Given the description of an element on the screen output the (x, y) to click on. 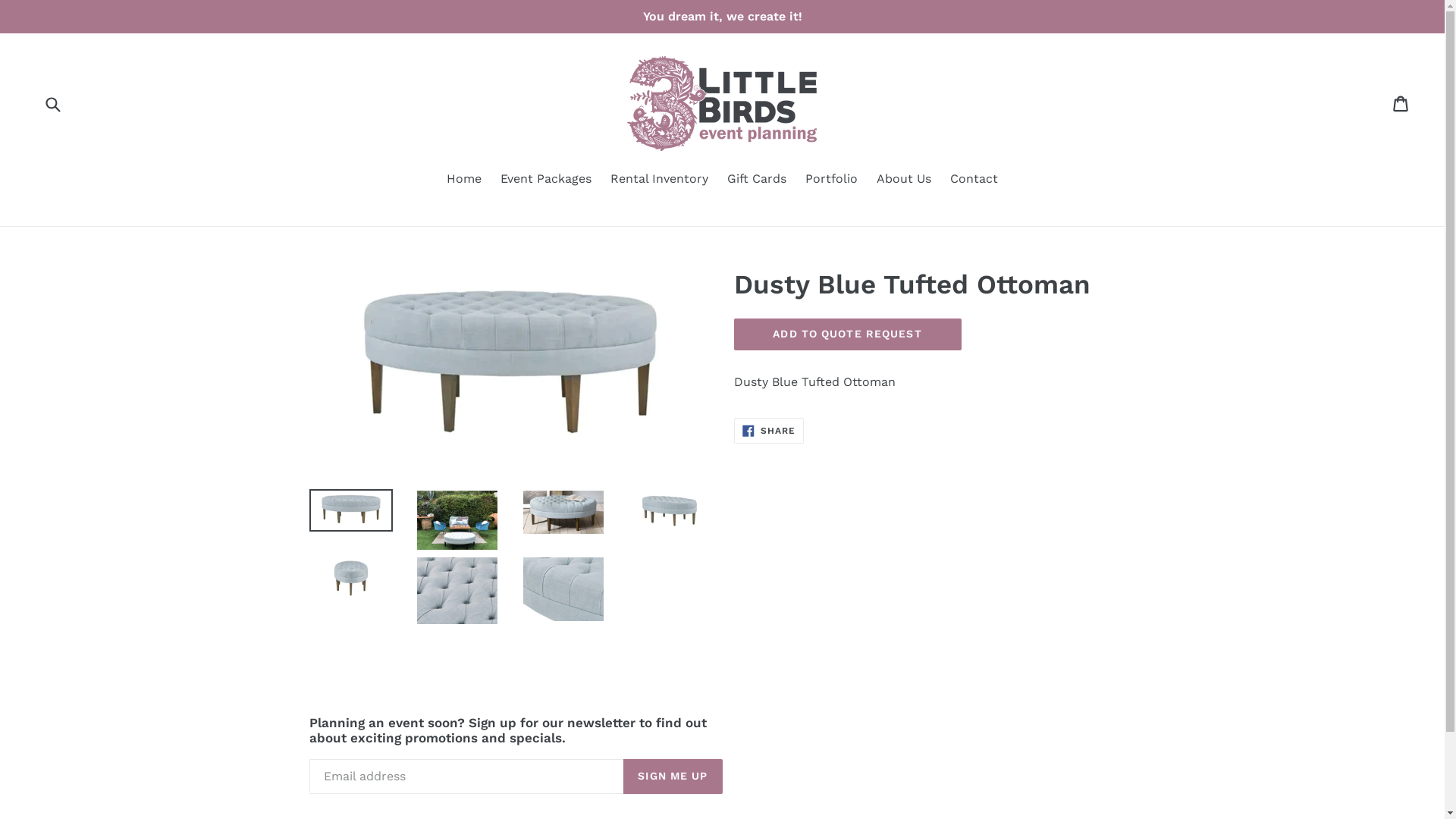
Portfolio Element type: text (831, 179)
Event Packages Element type: text (545, 179)
Submit Element type: text (51, 103)
Contact Element type: text (973, 179)
Rental Inventory Element type: text (658, 179)
About Us Element type: text (903, 179)
Cart
Cart Element type: text (1401, 103)
Home Element type: text (464, 179)
SHARE
SHARE ON FACEBOOK Element type: text (769, 430)
ADD TO QUOTE REQUEST Element type: text (847, 334)
SIGN ME UP Element type: text (672, 776)
Gift Cards Element type: text (756, 179)
